Given the description of an element on the screen output the (x, y) to click on. 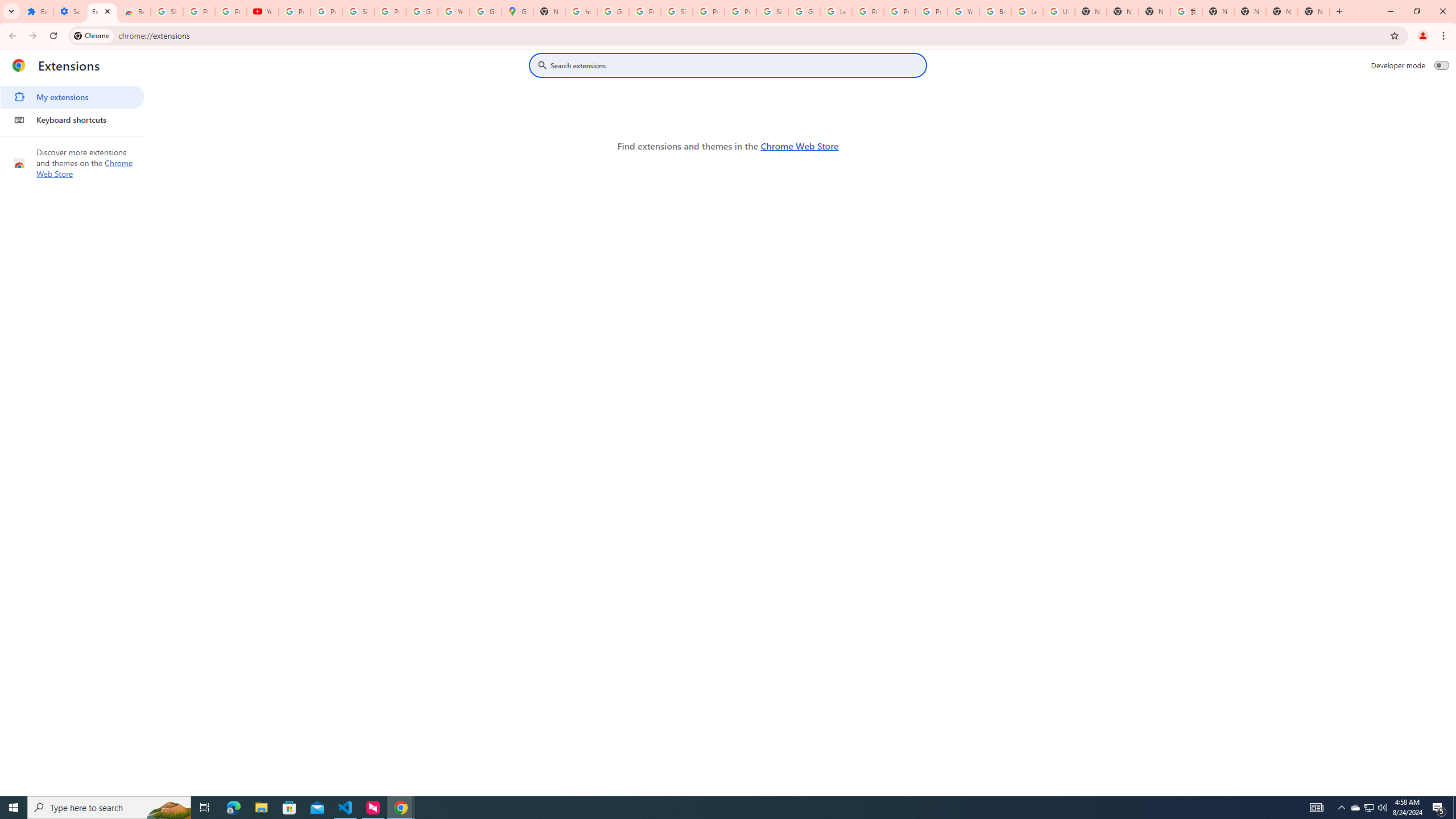
Privacy Help Center - Policies Help (899, 11)
Sign in - Google Accounts (358, 11)
AutomationID: sectionMenu (72, 106)
Reviews: Helix Fruit Jump Arcade Game (134, 11)
https://scholar.google.com/ (581, 11)
Google Maps (517, 11)
